Given the description of an element on the screen output the (x, y) to click on. 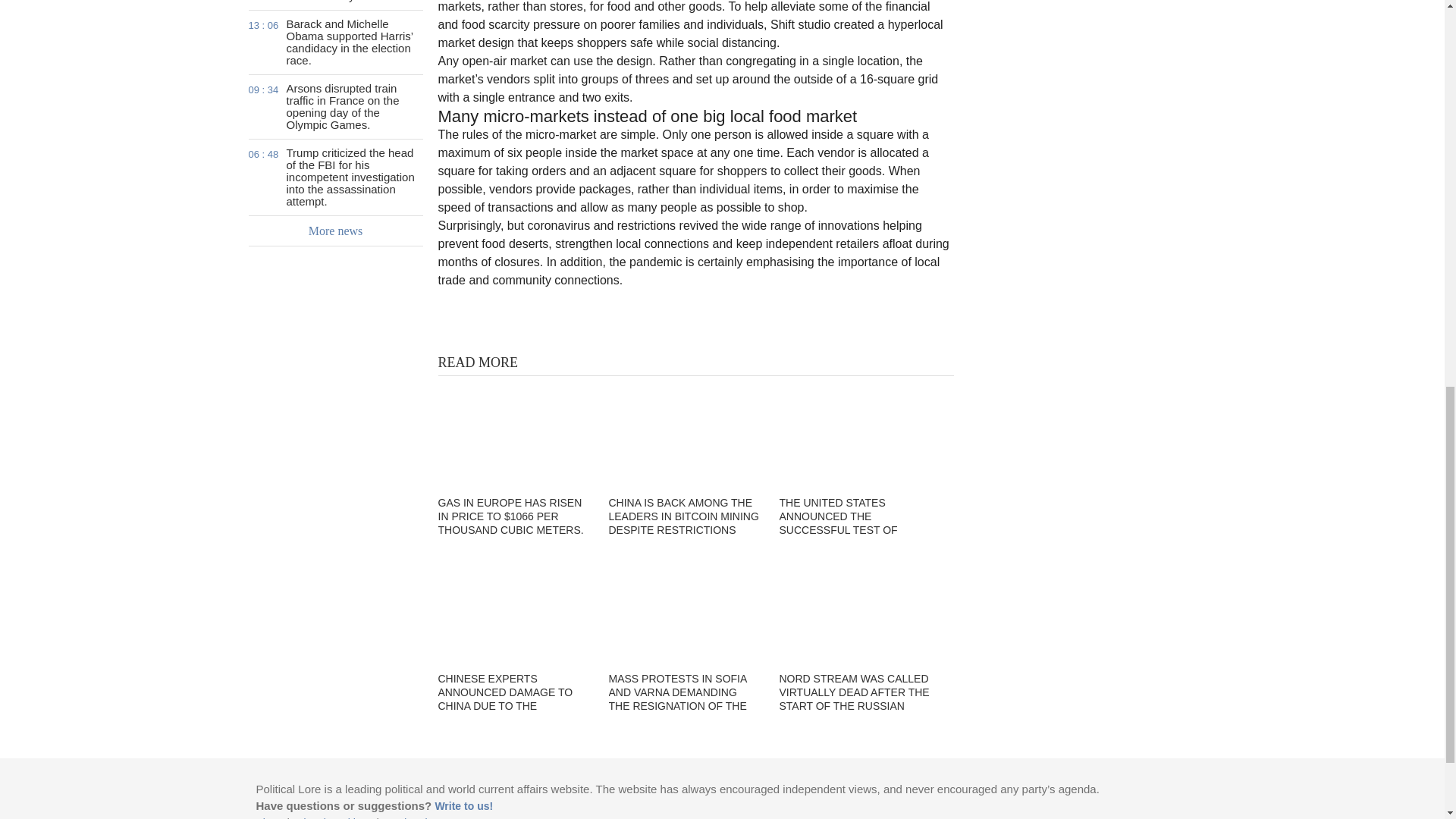
More news (335, 231)
